Given the description of an element on the screen output the (x, y) to click on. 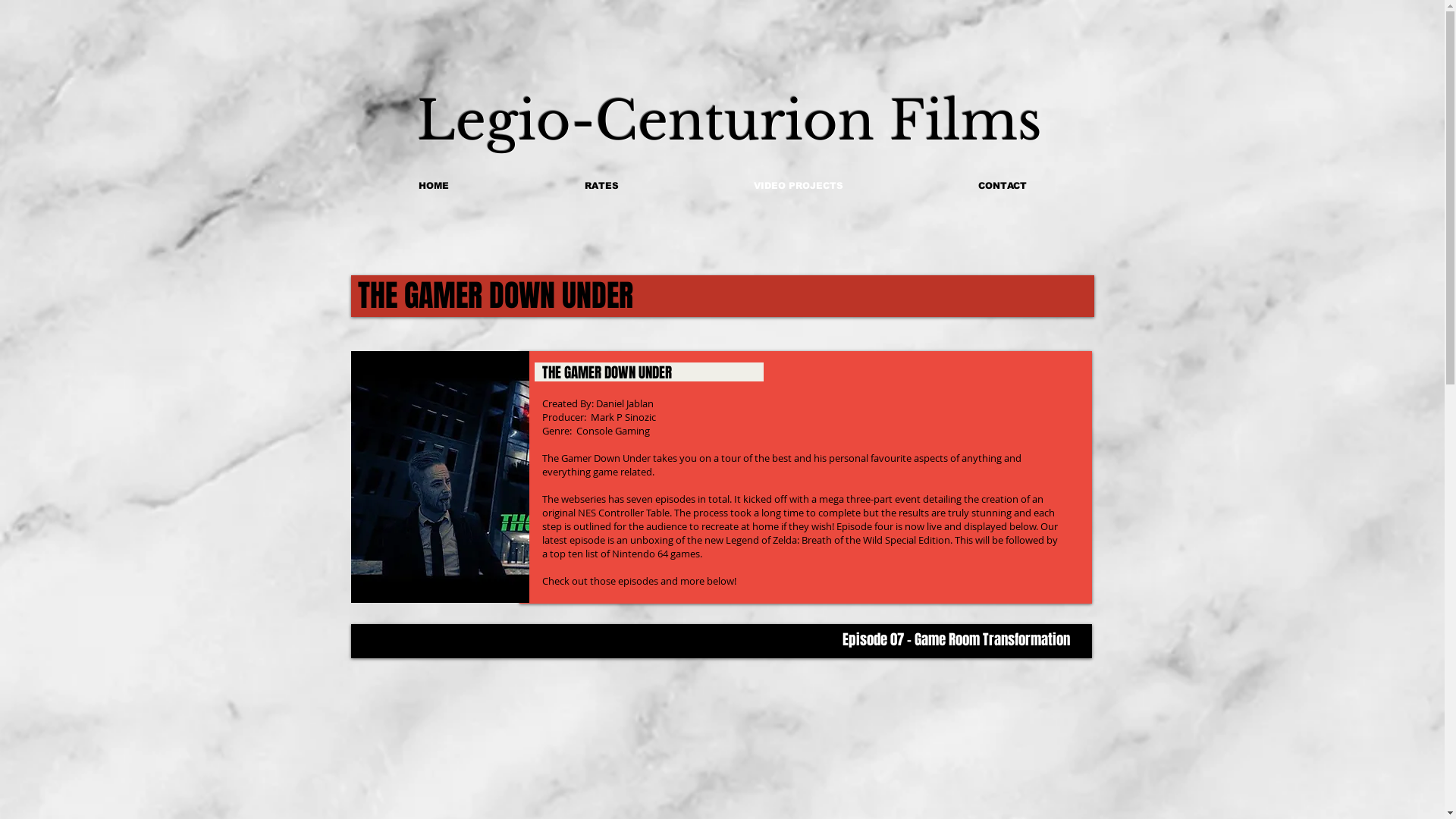
RATES Element type: text (601, 185)
HOME Element type: text (433, 185)
Legio-Centurion Films Element type: text (729, 120)
16112672_354846114877382_7546586505033438875_o.jpg Element type: hover (439, 476)
CONTACT Element type: text (1001, 185)
VIDEO PROJECTS Element type: text (797, 185)
